Given the description of an element on the screen output the (x, y) to click on. 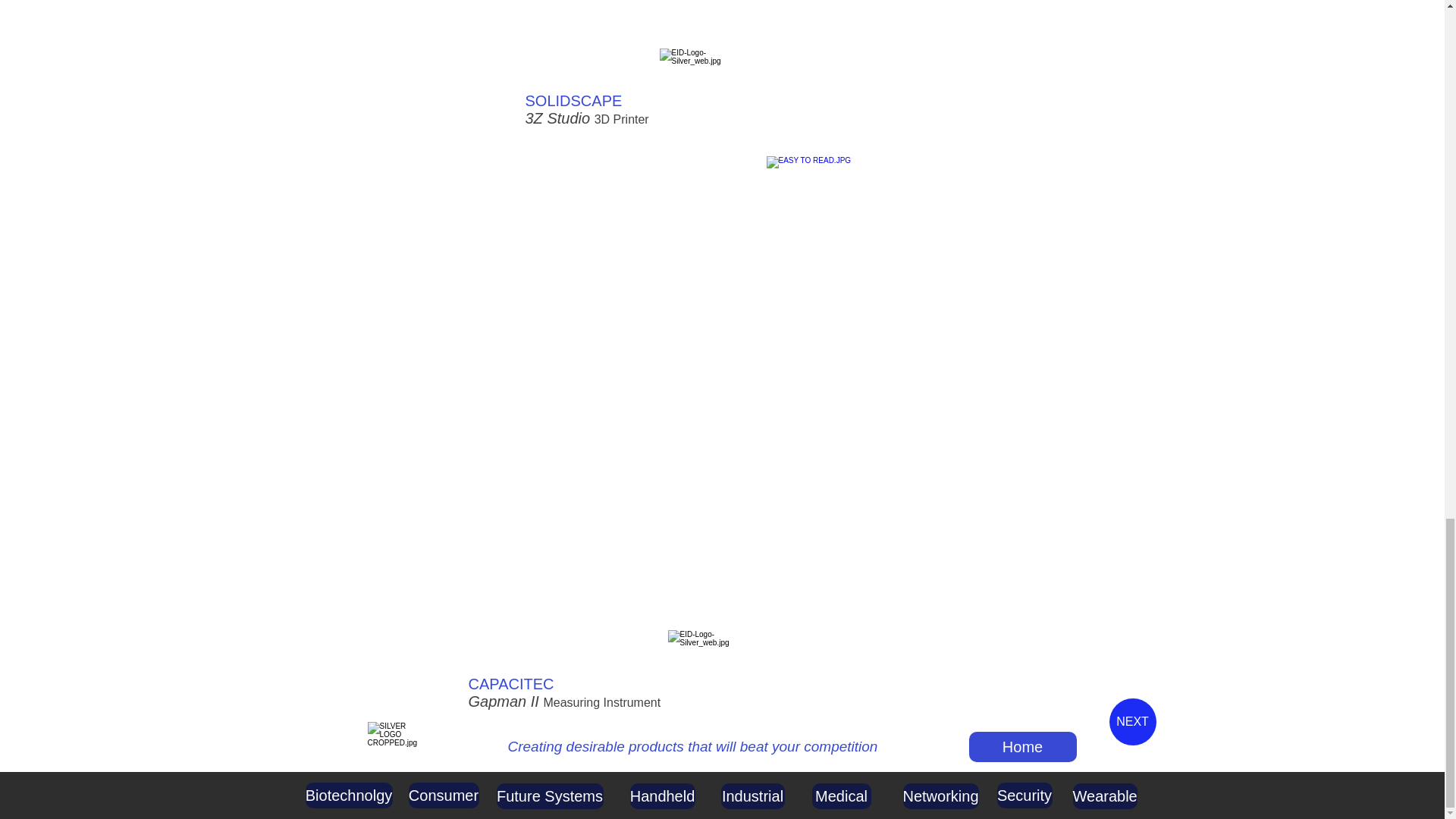
NEXT (1132, 721)
Home (1023, 747)
Consumer (443, 795)
Handheld (661, 795)
Industrial (752, 795)
Security (1023, 795)
Medical (840, 795)
Wearable (1104, 795)
Networking (940, 795)
Future Systems (549, 795)
Biotechnolgy (347, 795)
